Given the description of an element on the screen output the (x, y) to click on. 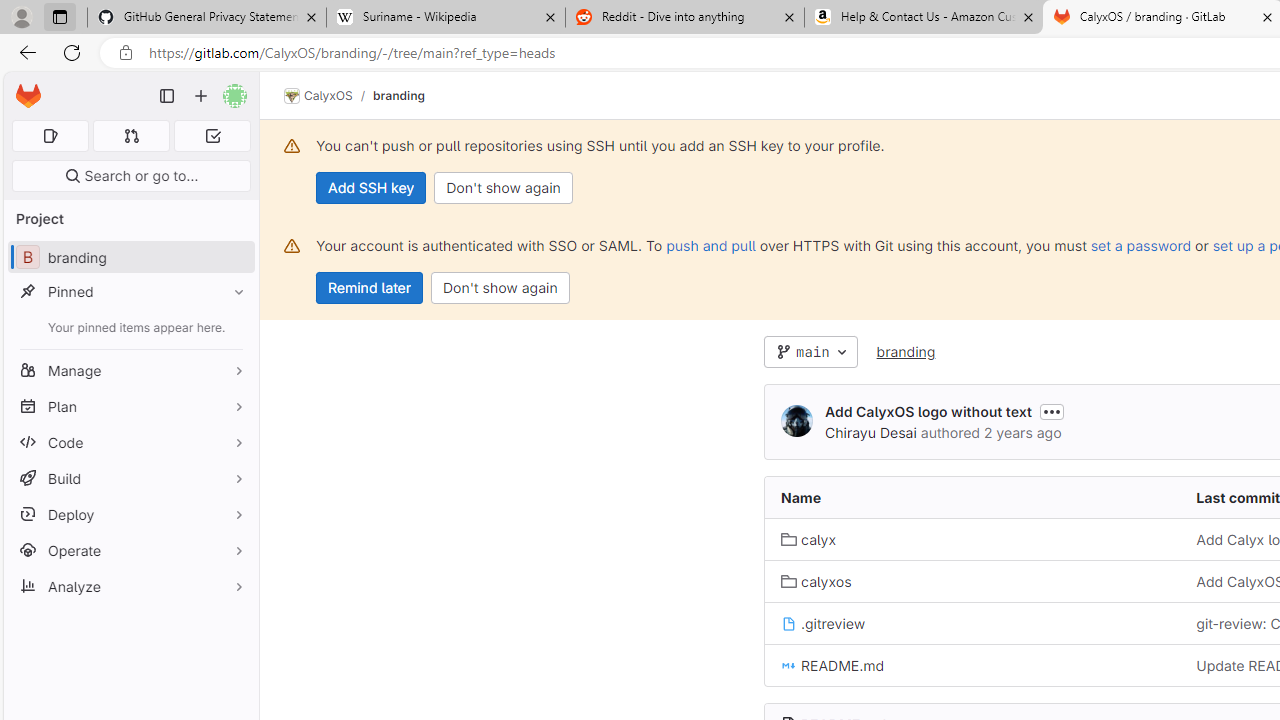
Deploy (130, 514)
